Given the description of an element on the screen output the (x, y) to click on. 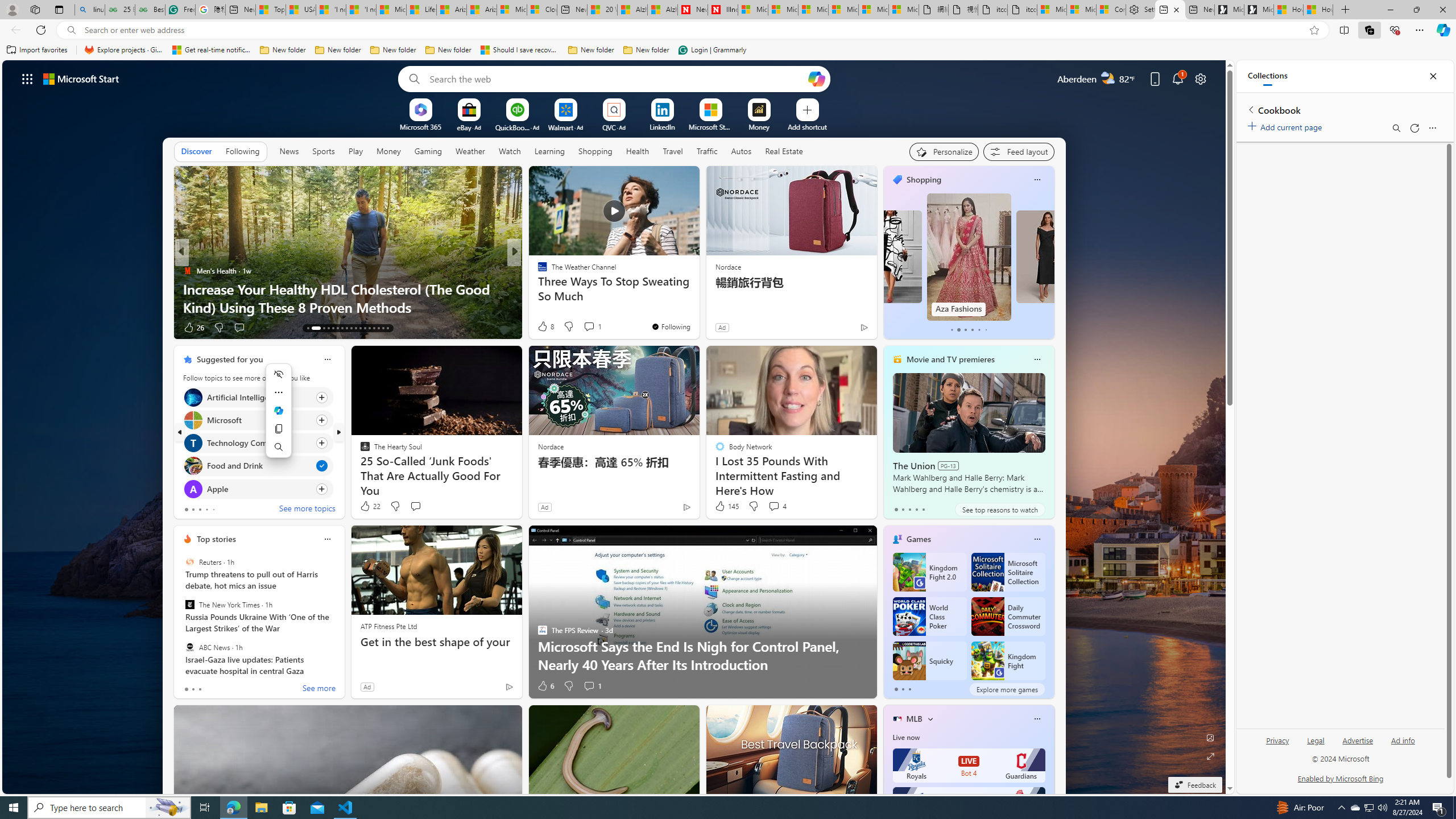
Cloud Computing Services | Microsoft Azure (542, 9)
Traffic (706, 151)
linux basic - Search (89, 9)
Eco Hugo (537, 270)
How to Use a Monitor With Your Closed Laptop (697, 307)
View comments 12 Comment (597, 327)
Play (355, 151)
AutomationID: tab-29 (387, 328)
The Manual (537, 270)
